Given the description of an element on the screen output the (x, y) to click on. 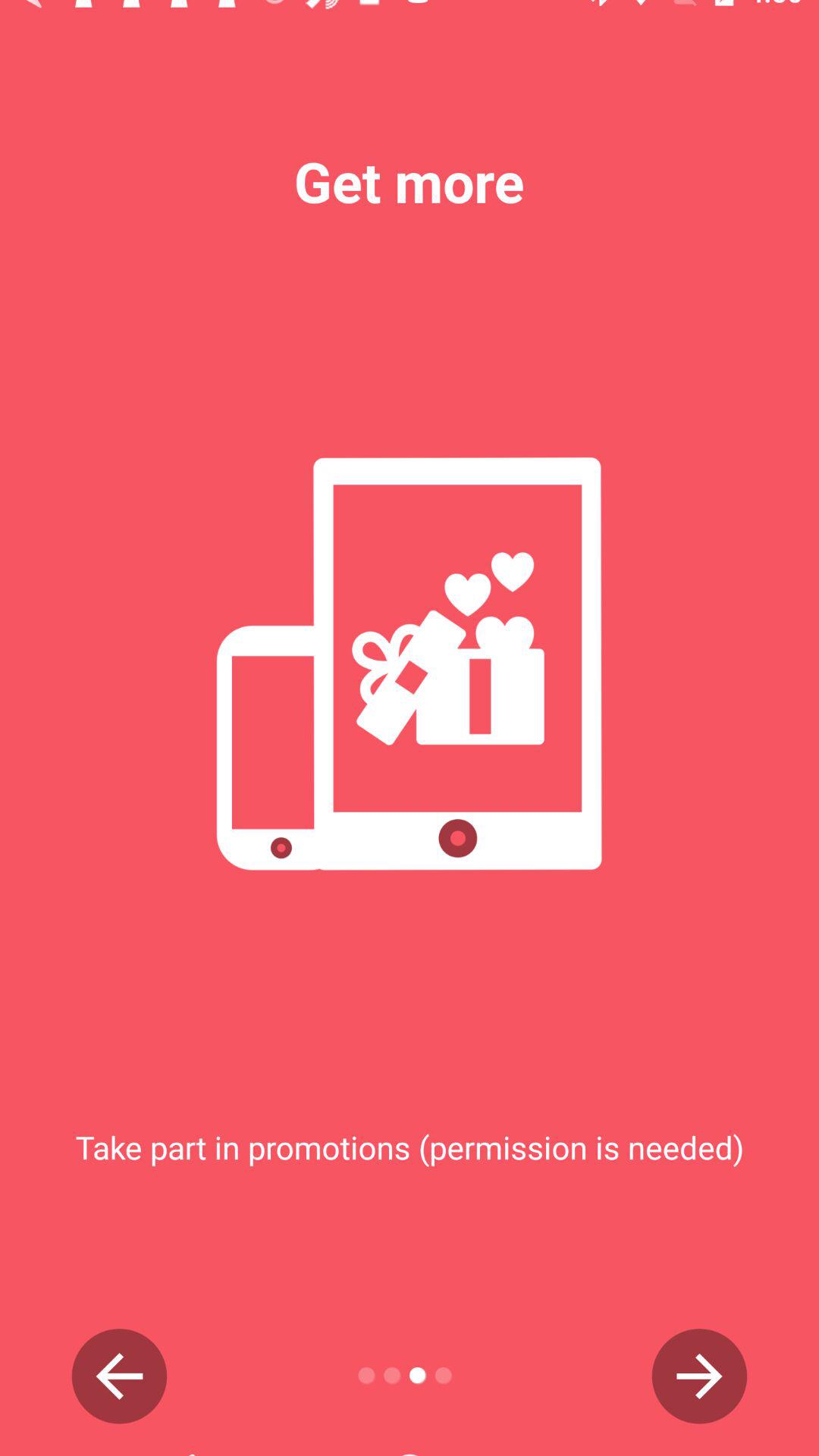
next button (699, 1376)
